Given the description of an element on the screen output the (x, y) to click on. 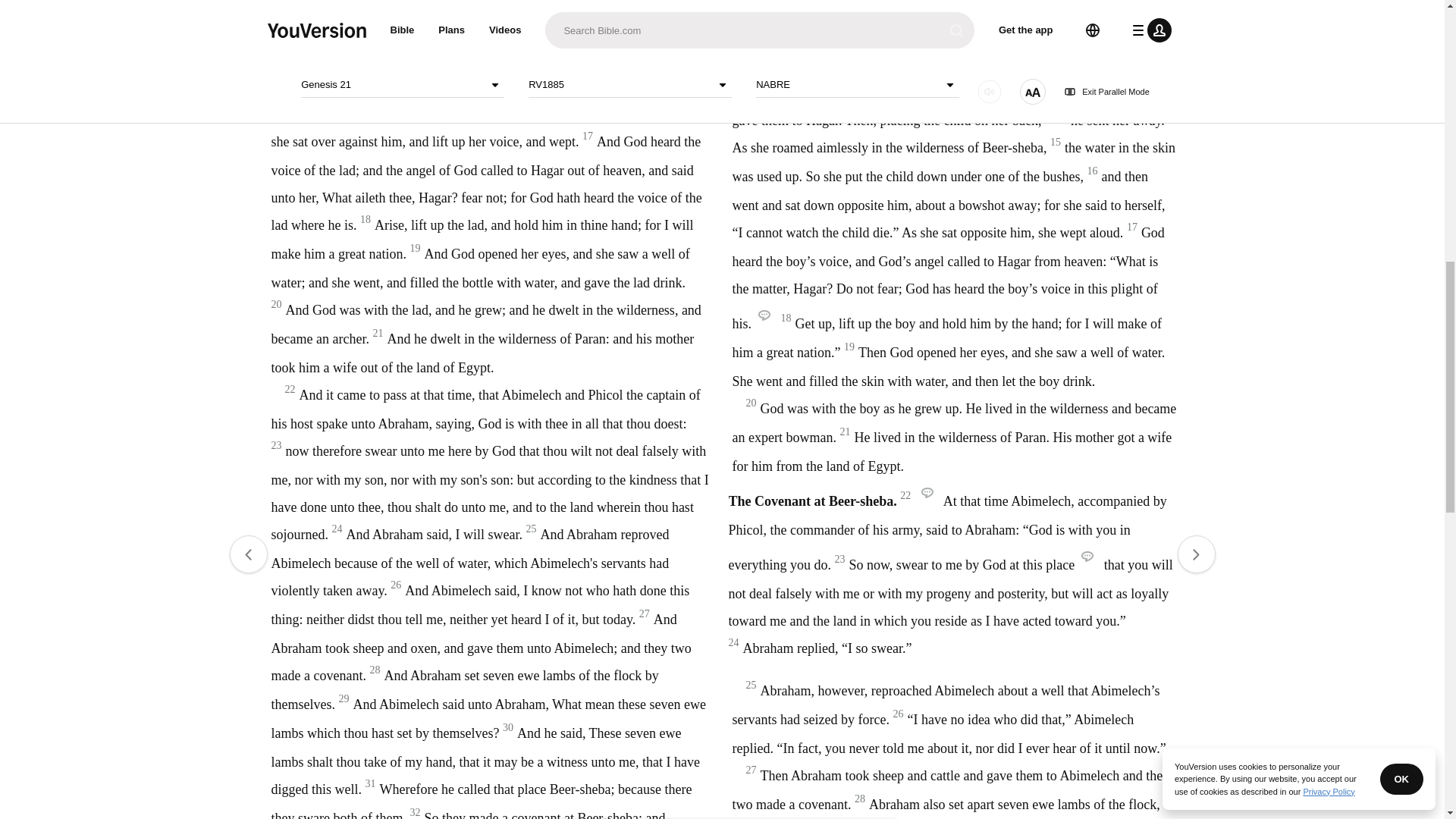
Genesis 21: RV1885 (630, 47)
: (599, 47)
Sign up or sign in (774, 245)
